Given the description of an element on the screen output the (x, y) to click on. 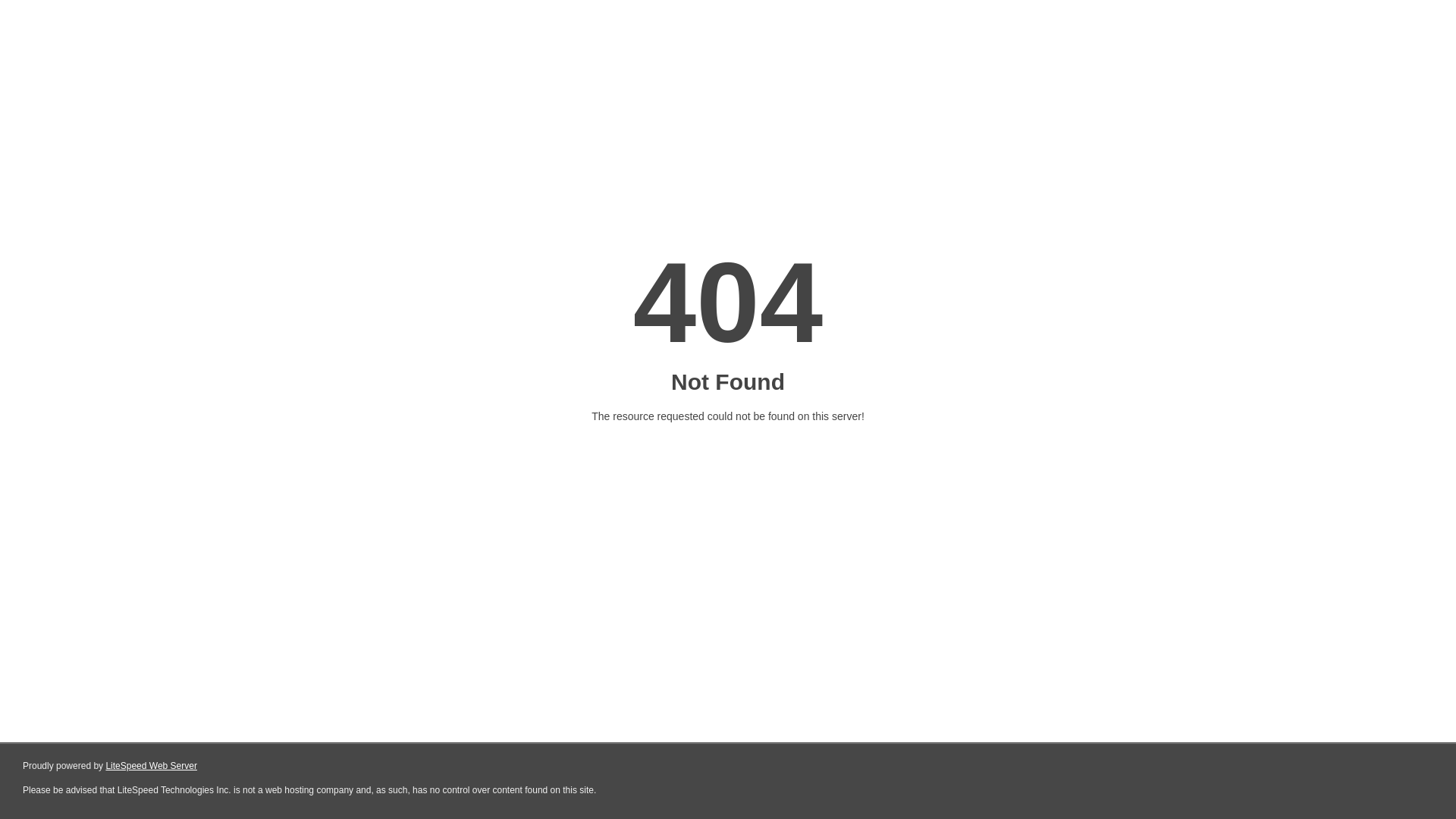
LiteSpeed Web Server Element type: text (151, 765)
